Given the description of an element on the screen output the (x, y) to click on. 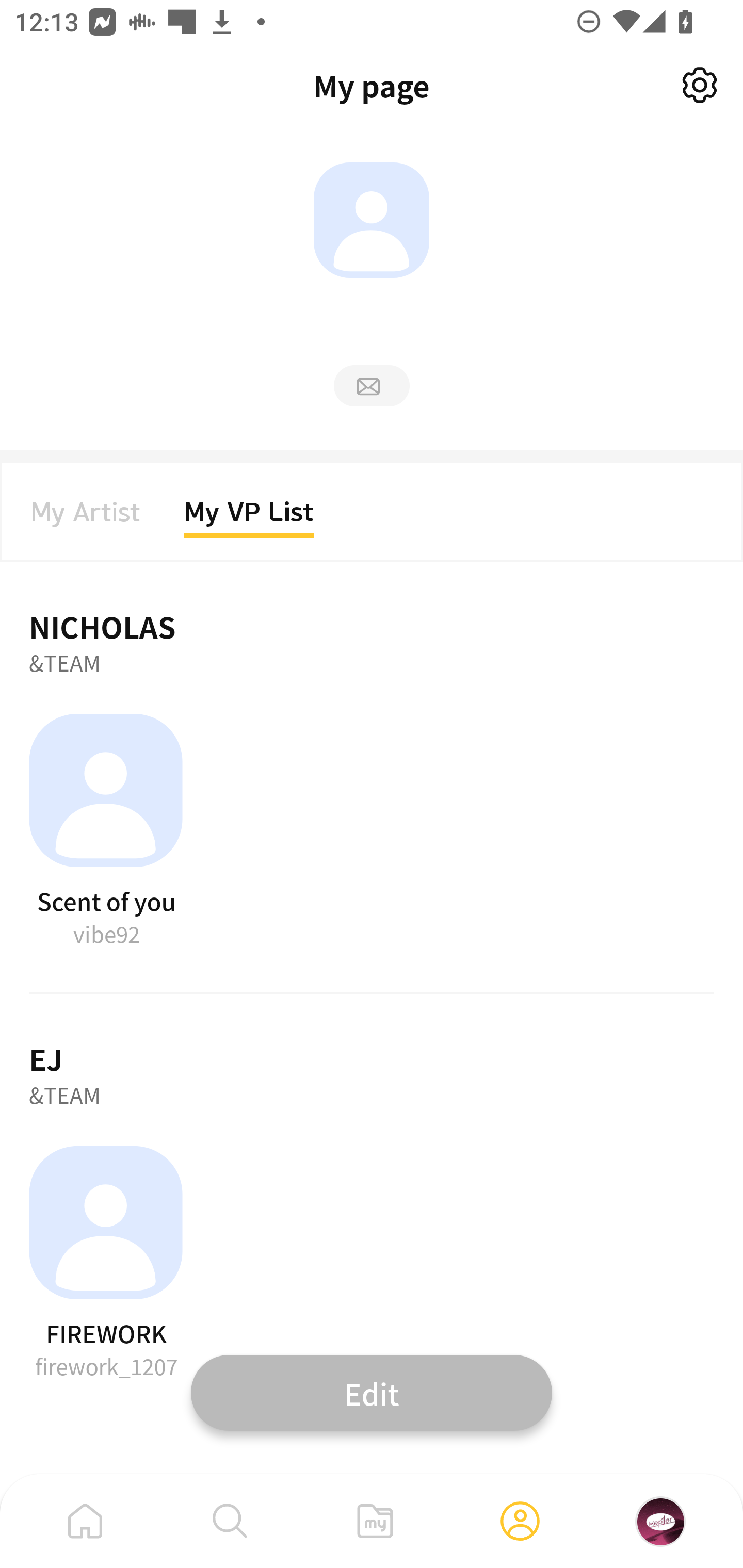
My Artist (86, 517)
My VP List (249, 517)
Scent of you vibe92 (106, 830)
FIREWORK firework_1207 (106, 1263)
Edit (371, 1392)
